Given the description of an element on the screen output the (x, y) to click on. 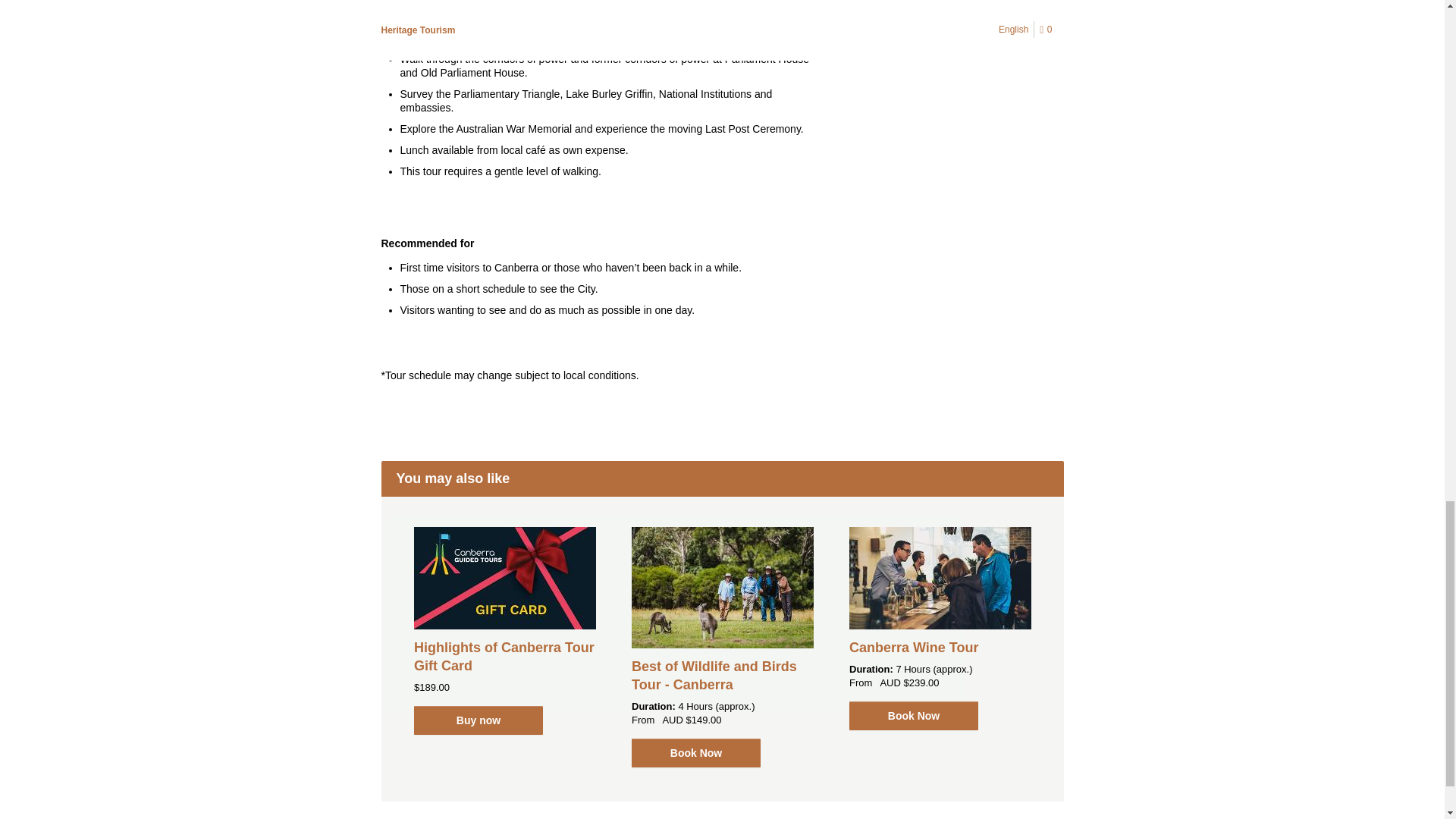
Buy now (478, 719)
Highlights of Canberra Tour Gift Card (503, 656)
